Given the description of an element on the screen output the (x, y) to click on. 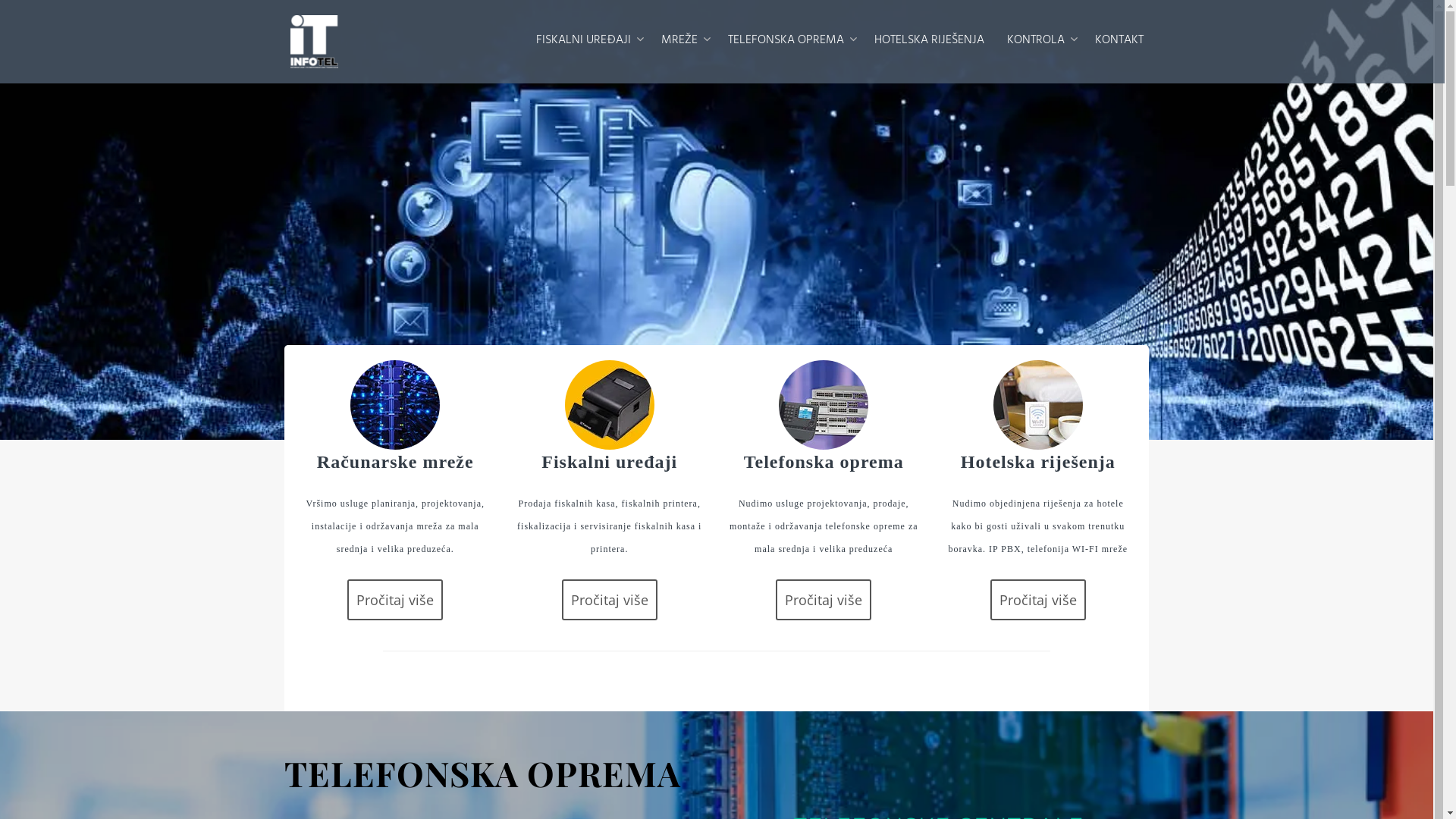
TELEFONSKA OPREMA Element type: text (788, 40)
KONTAKT Element type: text (1118, 40)
KONTROLA Element type: text (1038, 40)
